Given the description of an element on the screen output the (x, y) to click on. 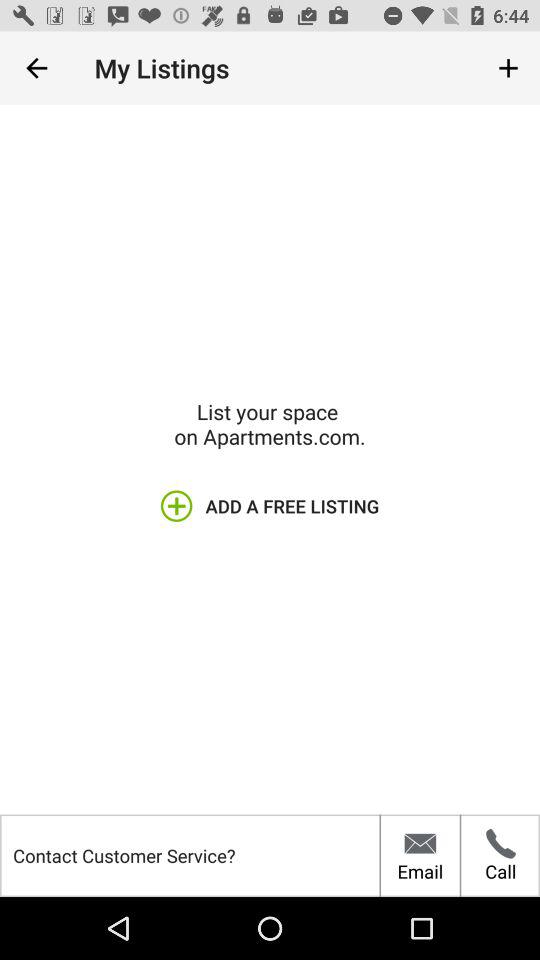
turn on the call icon (500, 855)
